Given the description of an element on the screen output the (x, y) to click on. 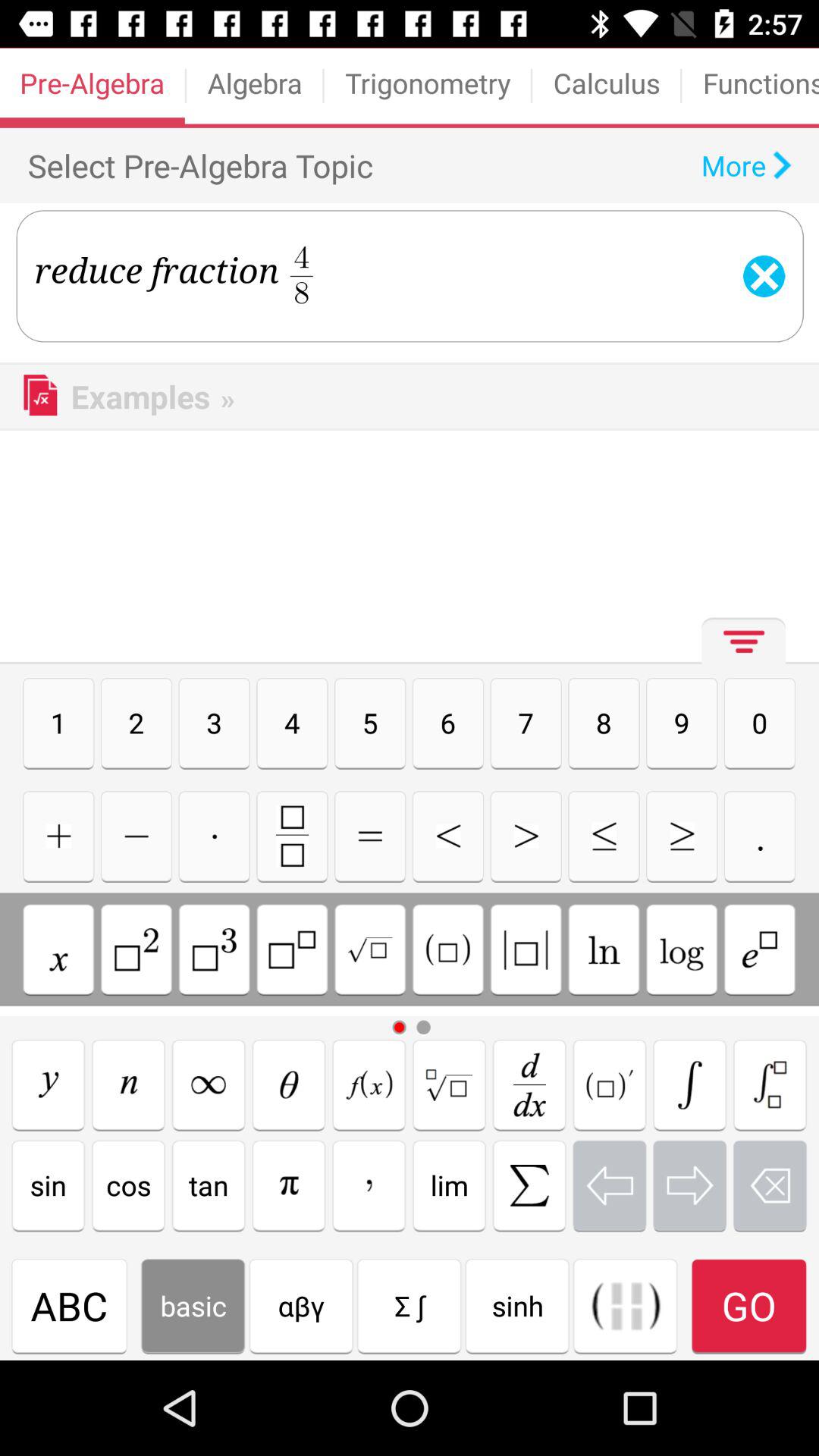
input derivative symbol (529, 1084)
